Given the description of an element on the screen output the (x, y) to click on. 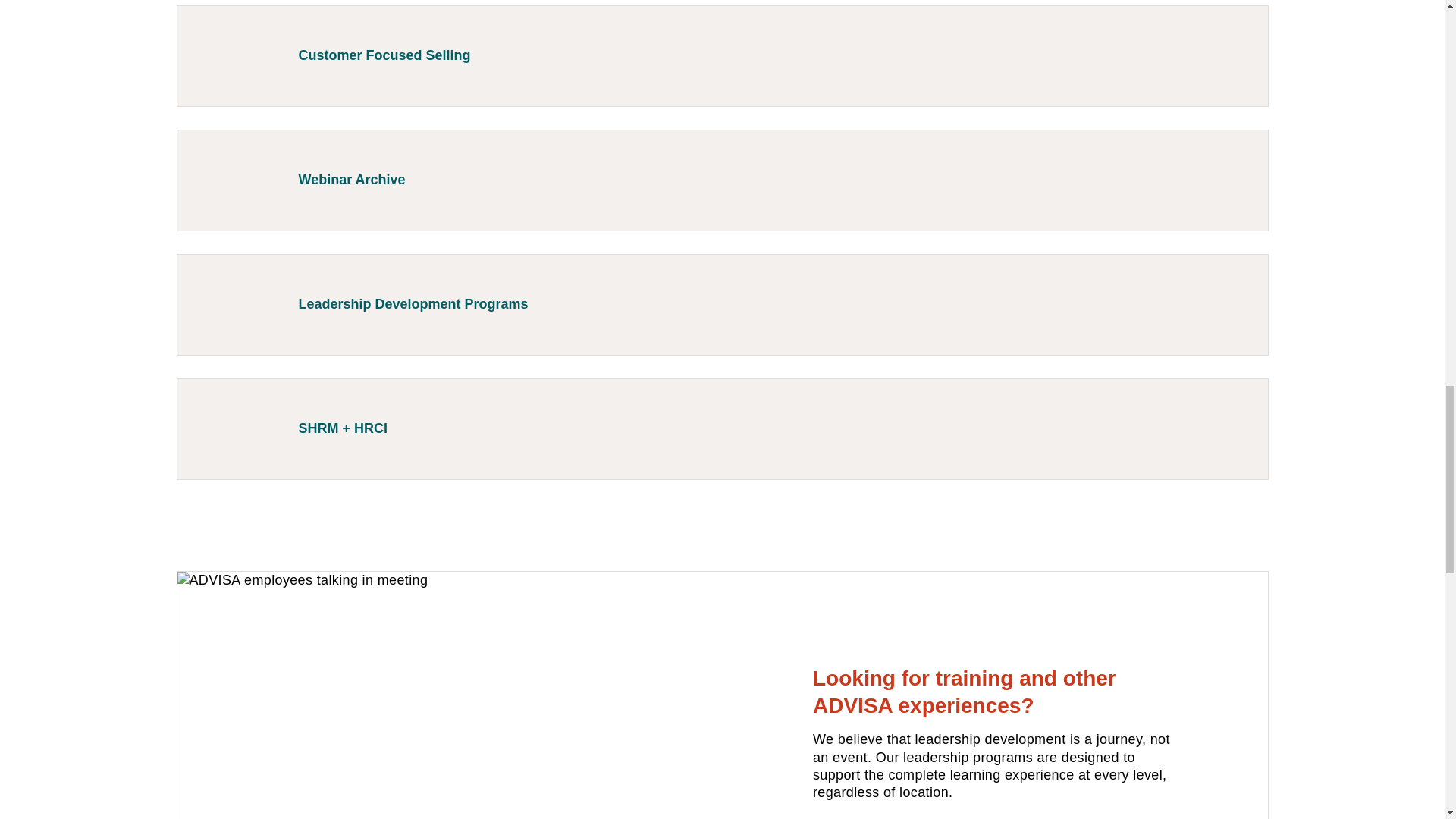
Customer Focused Selling (722, 55)
Leadership Development Programs (722, 304)
Webinar Archive (722, 179)
